Given the description of an element on the screen output the (x, y) to click on. 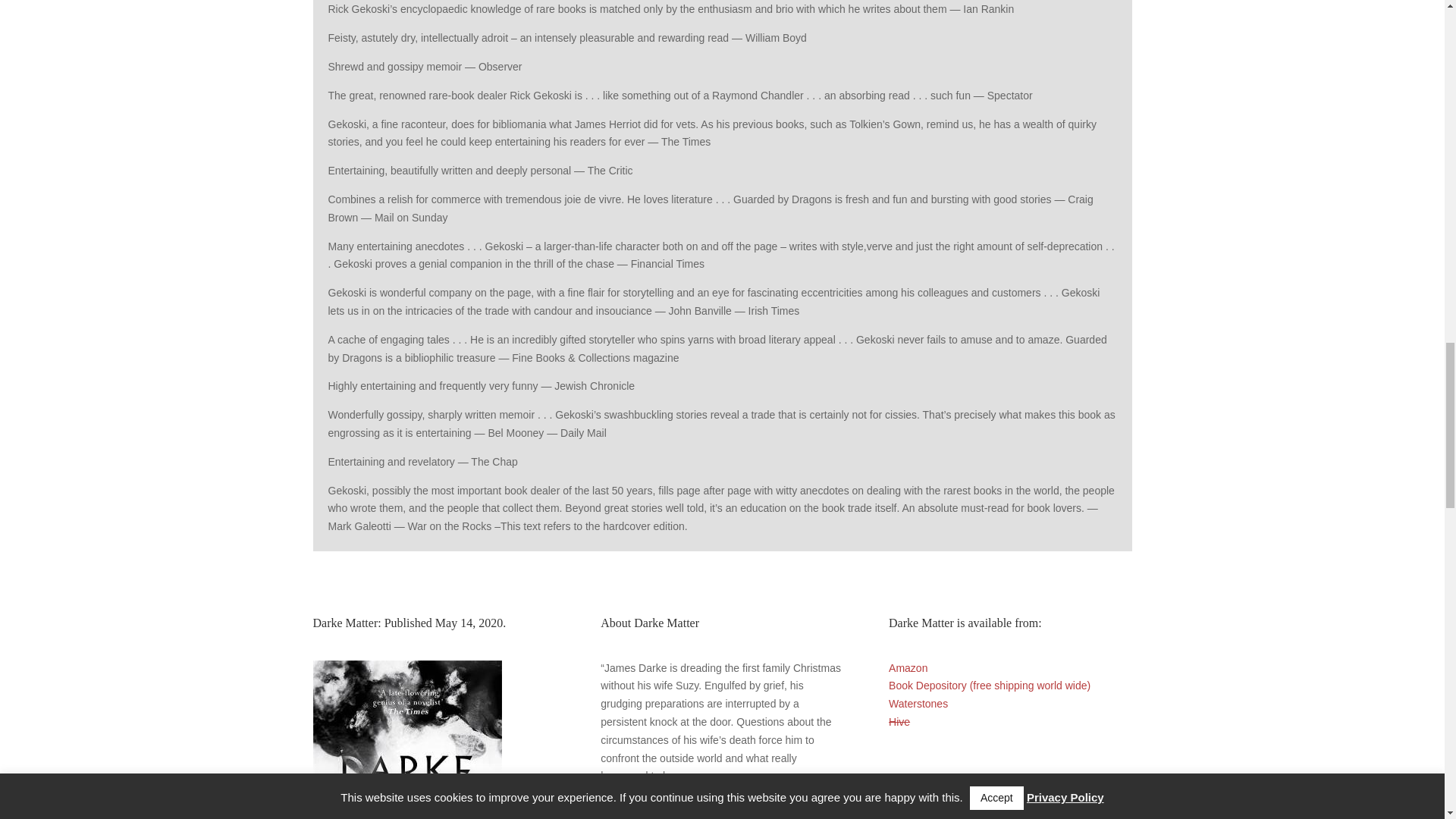
Hive (899, 721)
Amazon (907, 667)
Waterstones (917, 703)
